Given the description of an element on the screen output the (x, y) to click on. 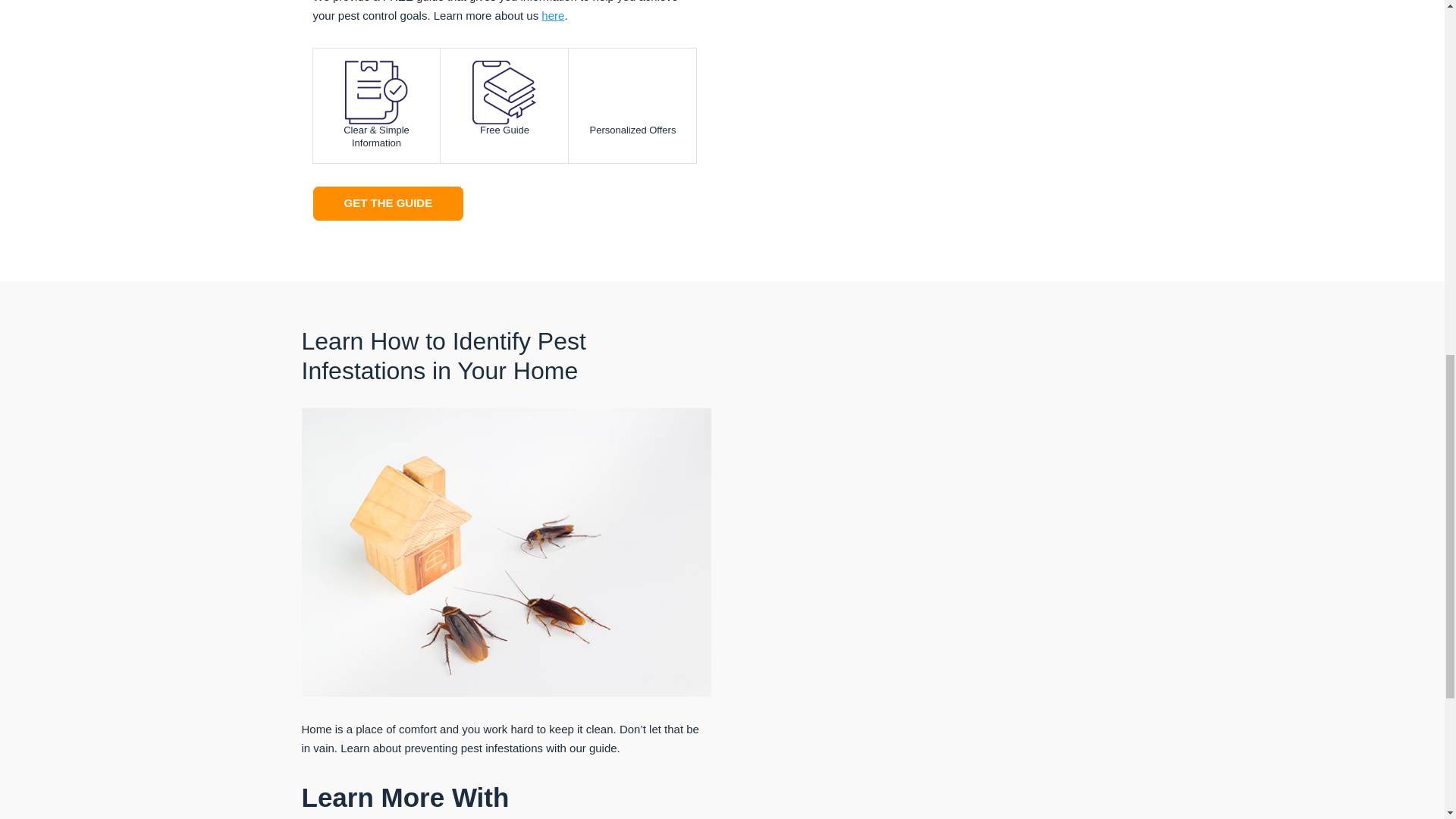
GET THE GUIDE (388, 203)
here (552, 15)
